Given the description of an element on the screen output the (x, y) to click on. 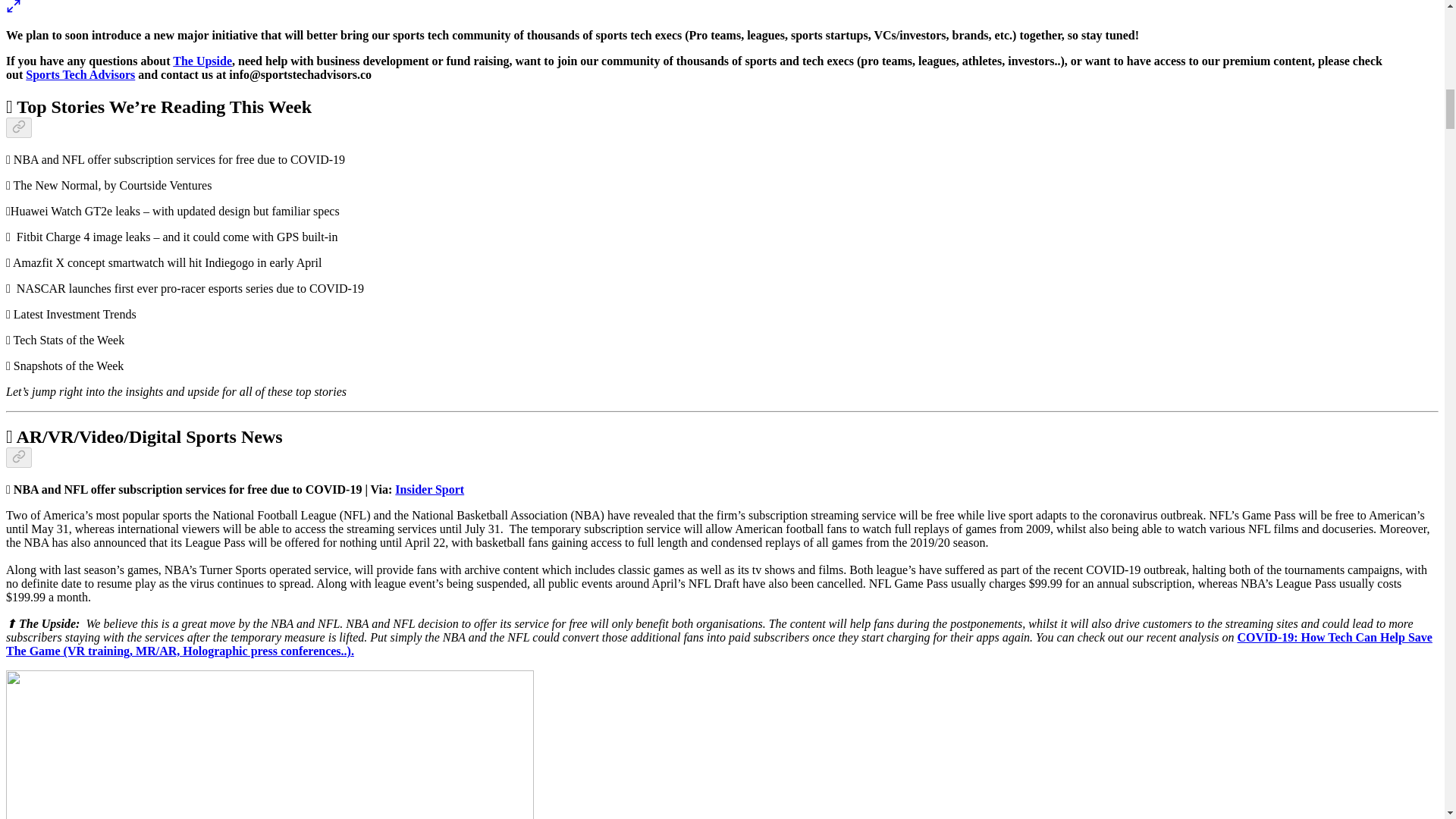
The Upside (202, 60)
Insider Sport (429, 489)
Sports Tech Advisors (80, 74)
